Given the description of an element on the screen output the (x, y) to click on. 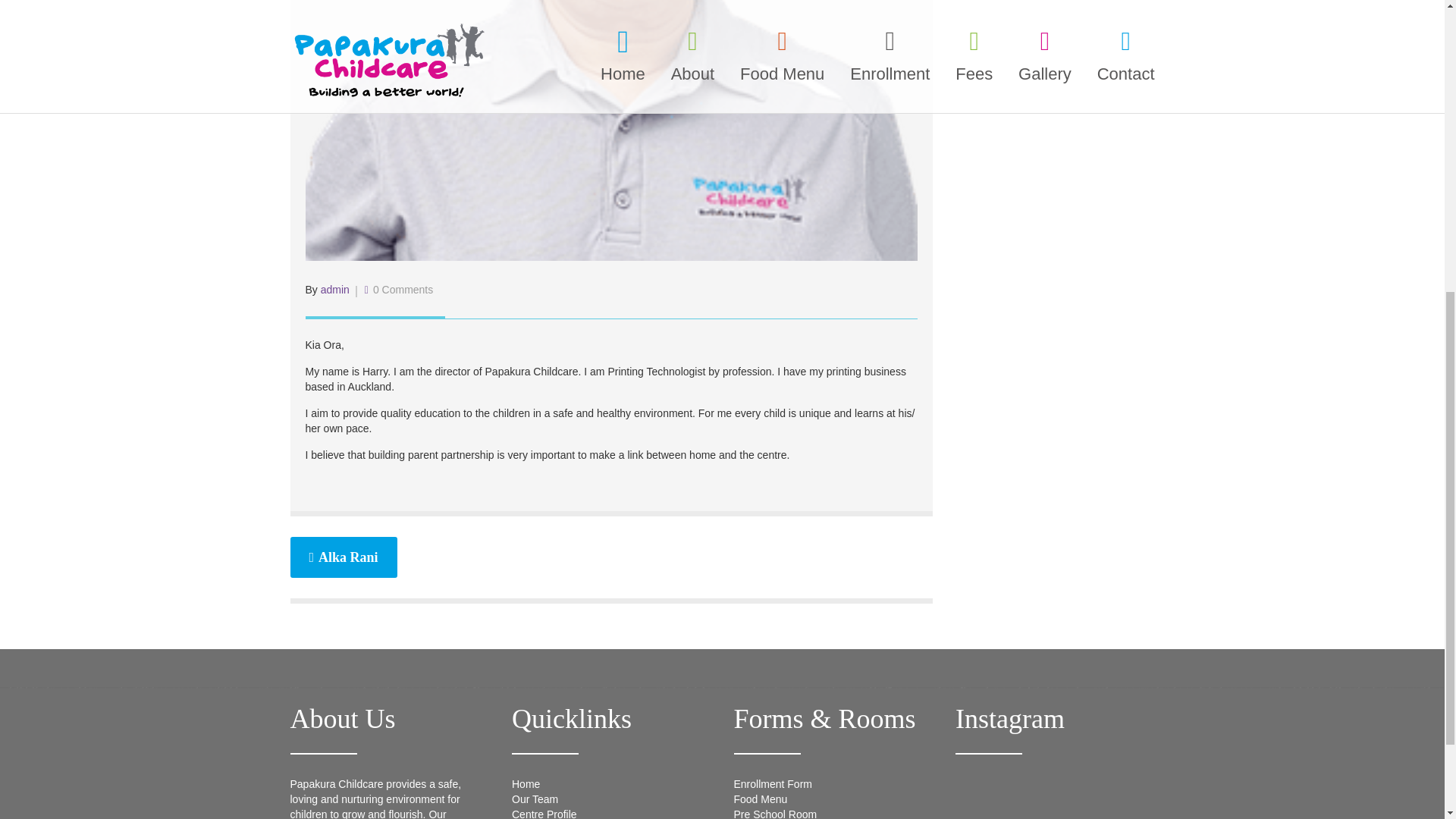
Alka Rani (342, 557)
Home (526, 784)
0 Comments (402, 289)
Posts by admin (334, 289)
Food Menu (760, 799)
admin (334, 289)
Enrollment Form (772, 784)
Our Team (534, 799)
